Given the description of an element on the screen output the (x, y) to click on. 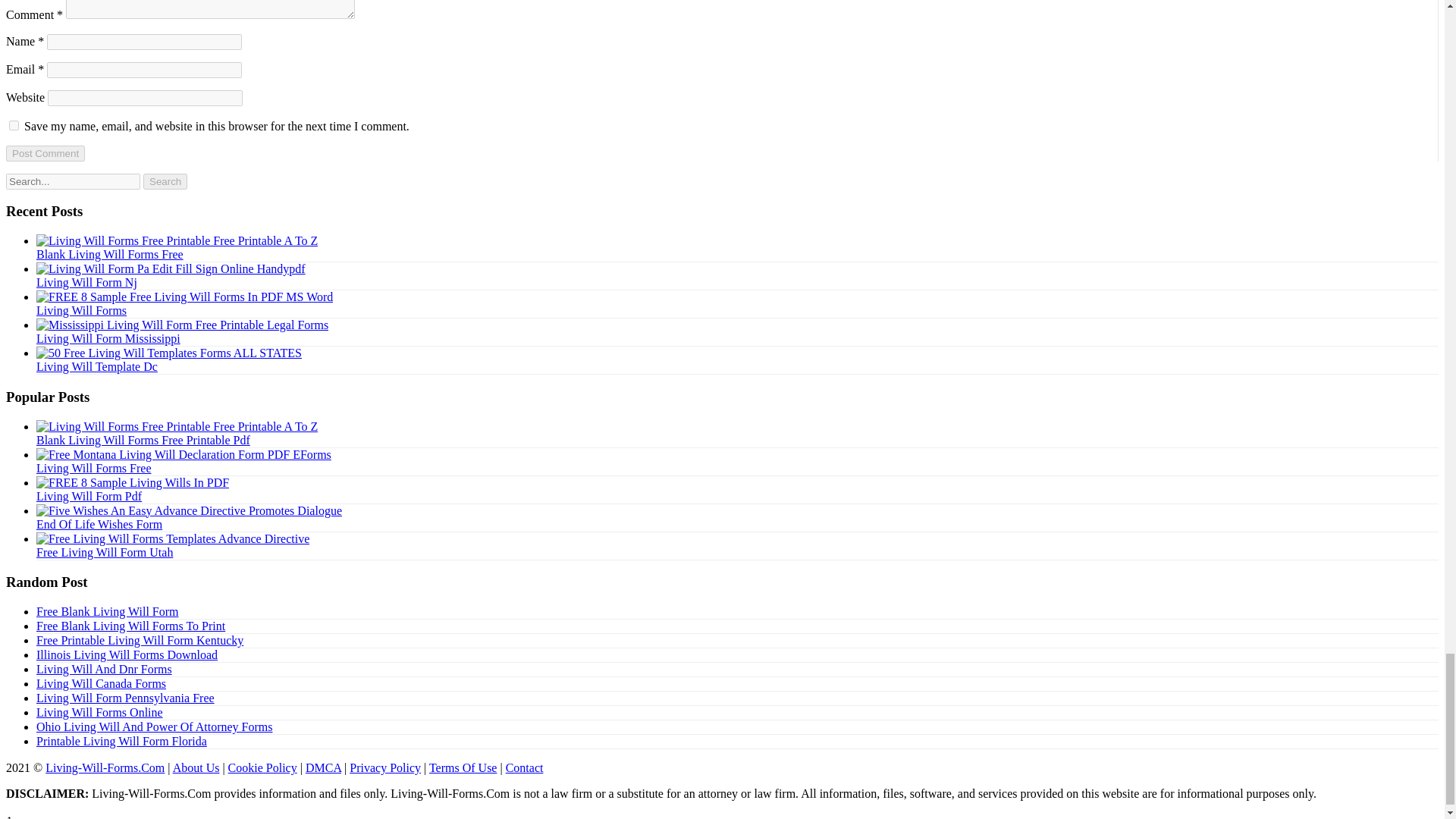
Post Comment (44, 153)
Search (164, 181)
yes (13, 125)
Search (164, 181)
